Given the description of an element on the screen output the (x, y) to click on. 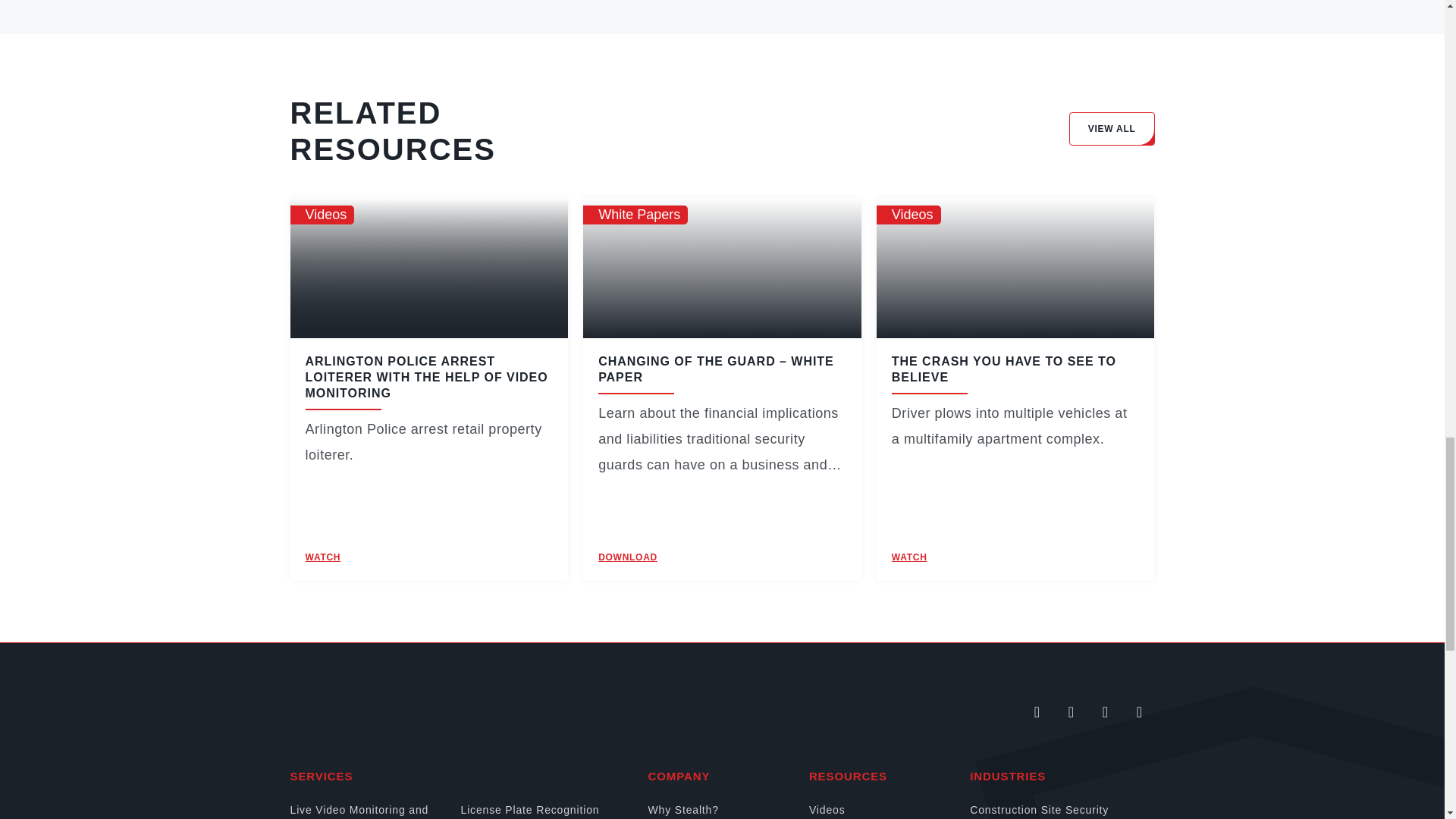
Facebook (1070, 711)
logo (405, 711)
The Crash You Have to See to Believe (1003, 369)
Linkedin (1037, 711)
